Given the description of an element on the screen output the (x, y) to click on. 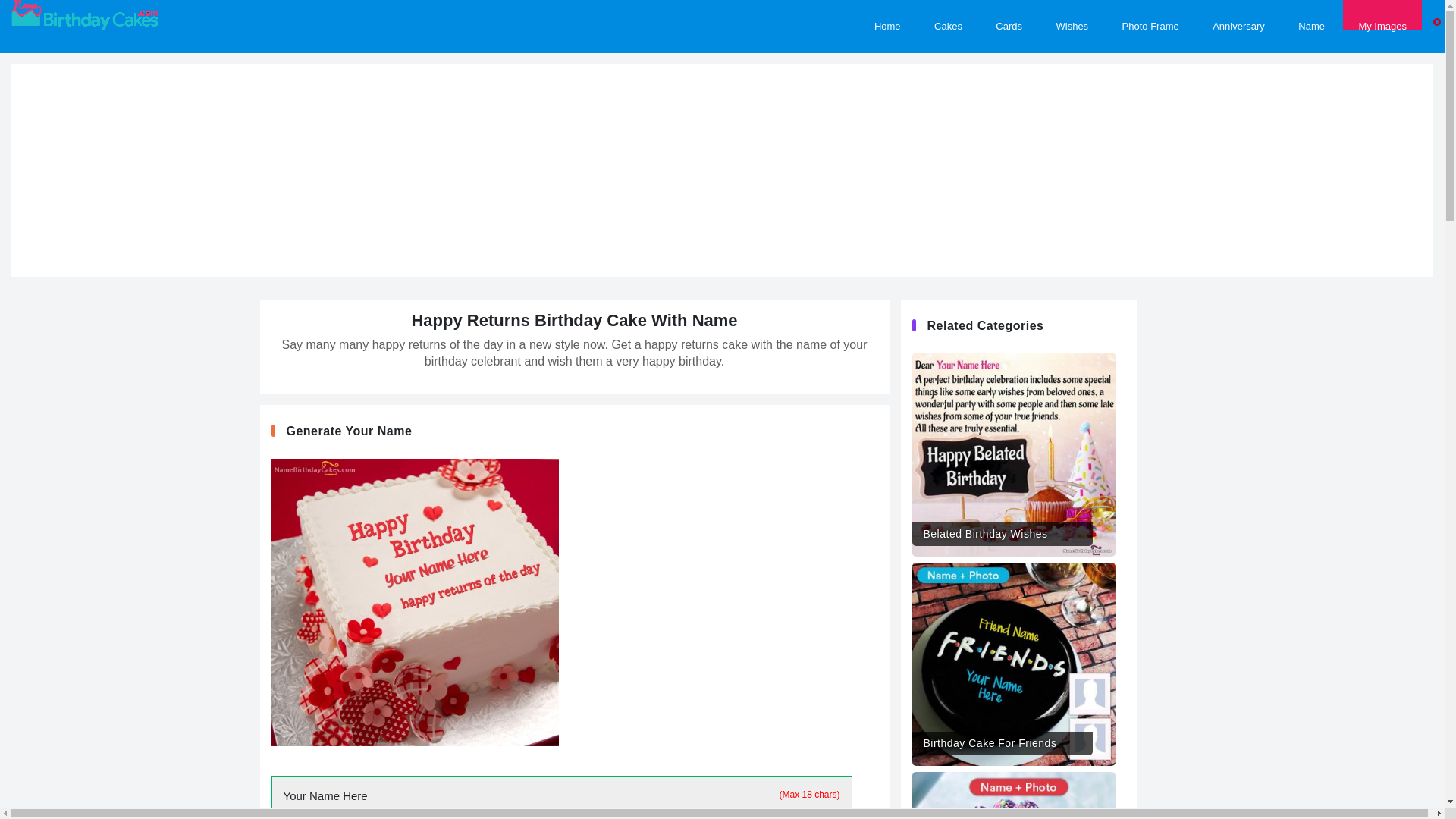
Wishes (1072, 15)
Name (1310, 15)
Photo Frame (1149, 15)
My Images (1382, 15)
Birthday Cake For Girls (1013, 795)
Belated Birthday Wishes (1013, 449)
Birthday Cake For Friends (1013, 658)
Home (887, 15)
Cakes (947, 15)
Anniversary (1237, 15)
Cards (1007, 15)
